Given the description of an element on the screen output the (x, y) to click on. 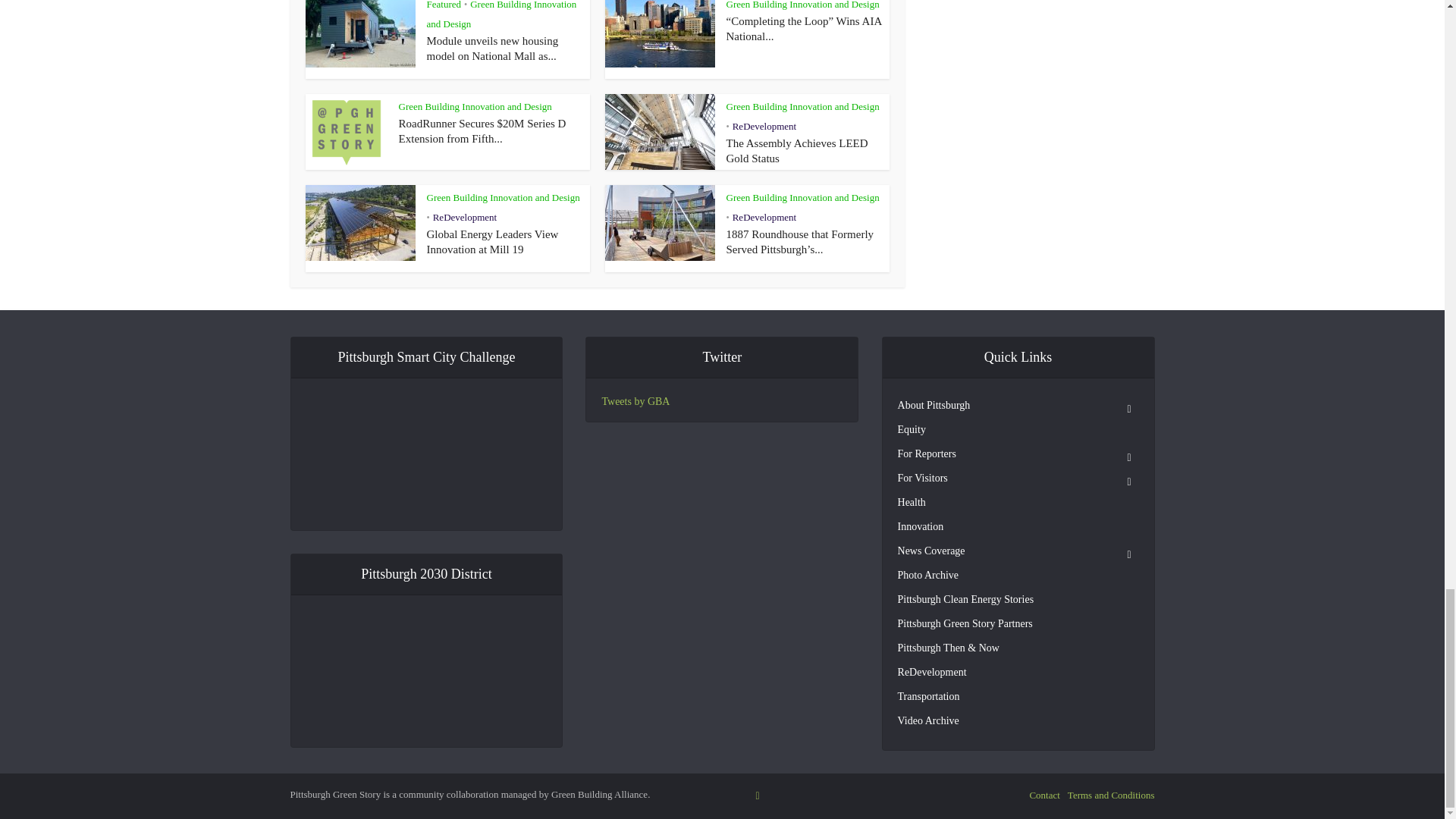
The Assembly Achieves LEED Gold Status (796, 149)
Module unveils new housing model on National Mall as... (491, 48)
Featured (443, 4)
Green Building Innovation and Design (501, 14)
Green Building Innovation and Design (474, 105)
Green Building Innovation and Design (802, 105)
Global Energy Leaders View Innovation at Mill 19 (491, 240)
Green Building Innovation and Design (802, 4)
The Assembly Achieves LEED Gold Status (796, 149)
ReDevelopment (764, 125)
